Given the description of an element on the screen output the (x, y) to click on. 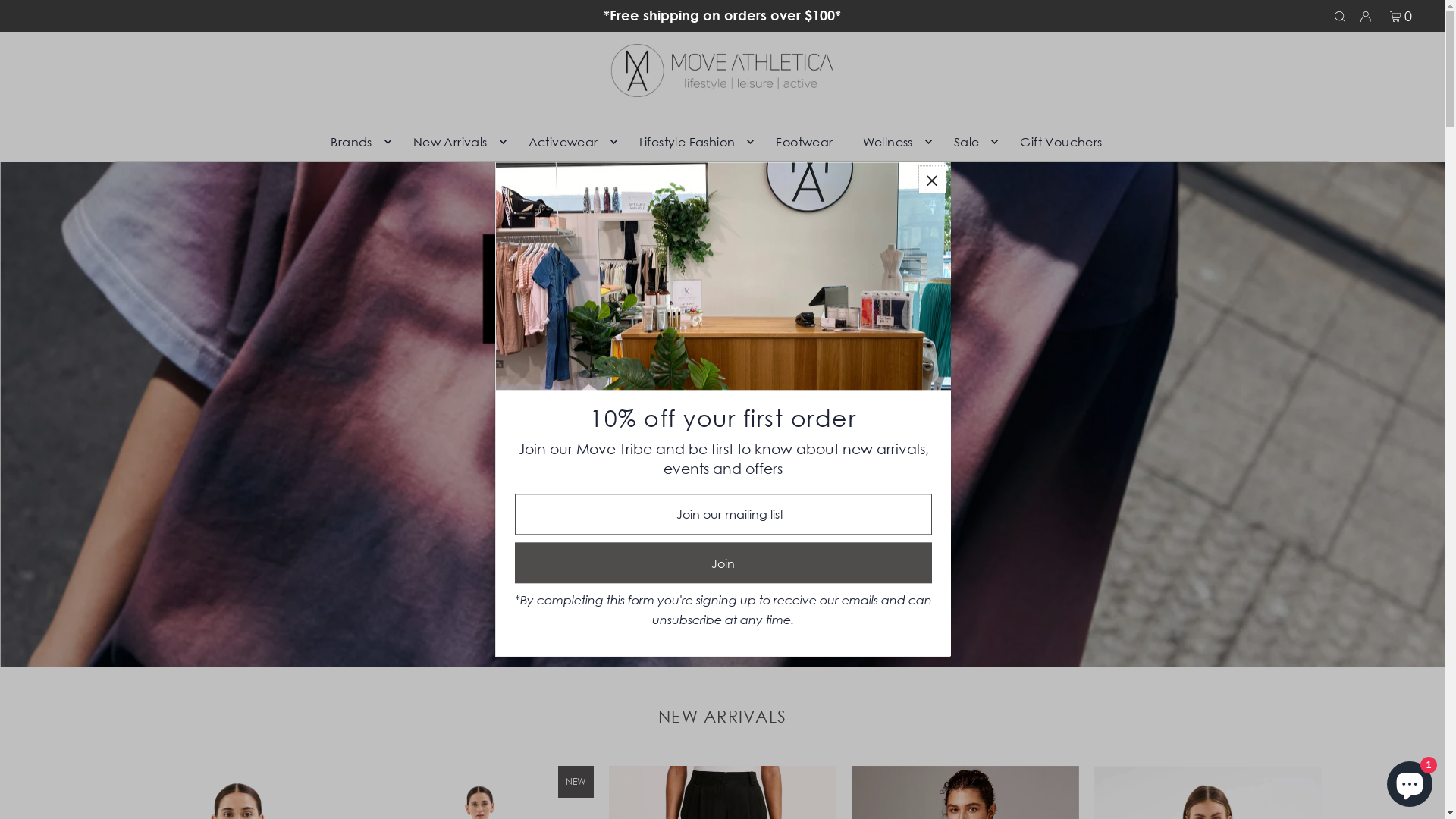
Wellness Element type: text (893, 141)
Footwear Element type: text (804, 141)
Lifestyle Fashion Element type: text (692, 141)
New Arrivals Element type: text (455, 141)
NEW ARRIVALS Element type: text (722, 716)
Shop Now Element type: text (704, 611)
Sale Element type: text (972, 141)
Join Element type: text (722, 562)
Shopify online store chat Element type: hover (1409, 780)
Gift Vouchers Element type: text (1060, 141)
Activewear Element type: text (568, 141)
Brands Element type: text (356, 141)
